Given the description of an element on the screen output the (x, y) to click on. 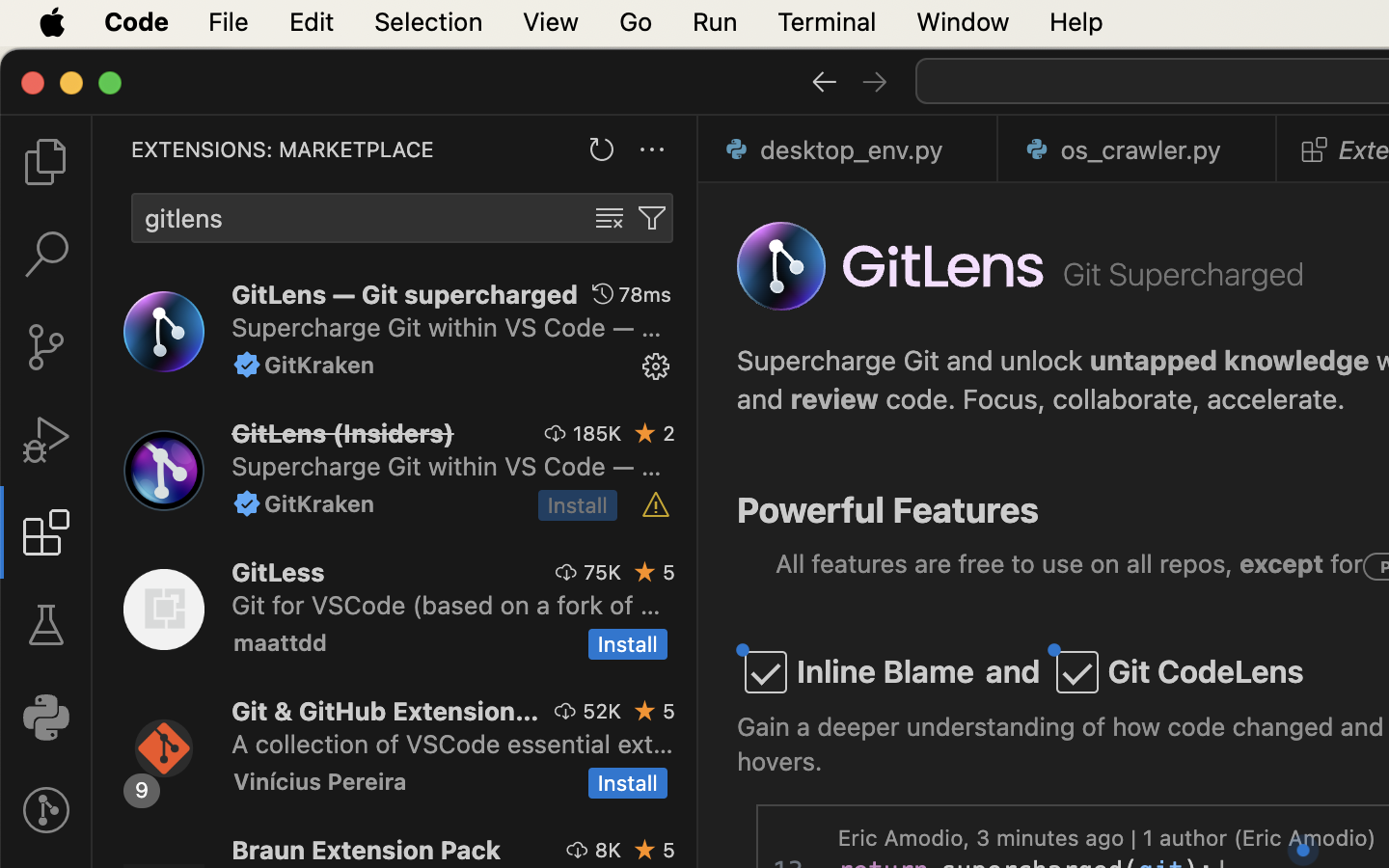
except Element type: AXStaticText (1282, 563)
Powerful Features Element type: AXStaticText (887, 509)
 Element type: AXStaticText (565, 571)
1  Element type: AXRadioButton (46, 532)
 Element type: AXStaticText (655, 504)
